Given the description of an element on the screen output the (x, y) to click on. 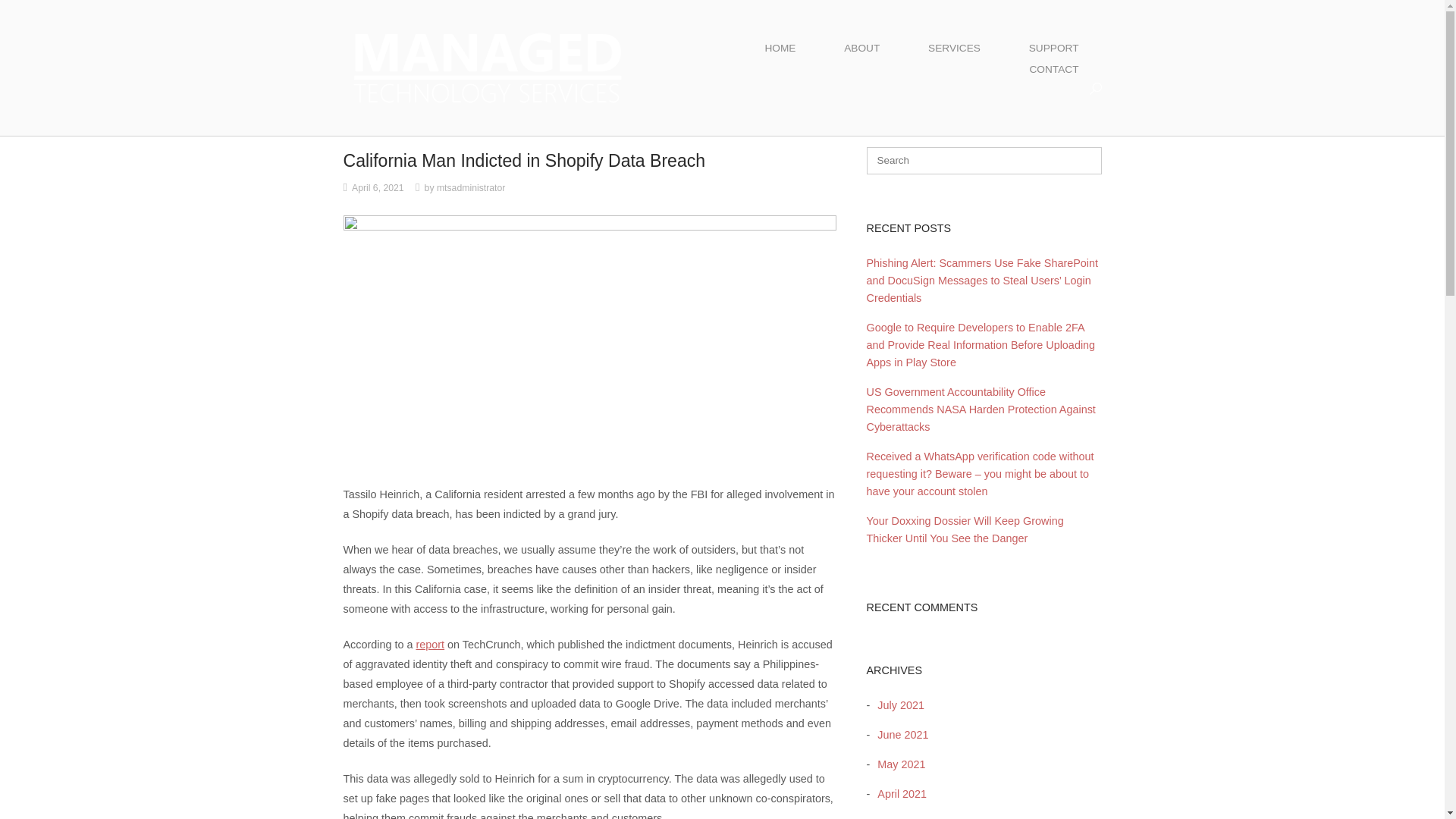
March 2021 (901, 818)
Home (486, 66)
April 6, 2021 (378, 187)
HOME (779, 48)
report (429, 644)
SUPPORT (1054, 48)
May 2021 (896, 764)
SERVICES (954, 48)
April 2021 (897, 793)
